Given the description of an element on the screen output the (x, y) to click on. 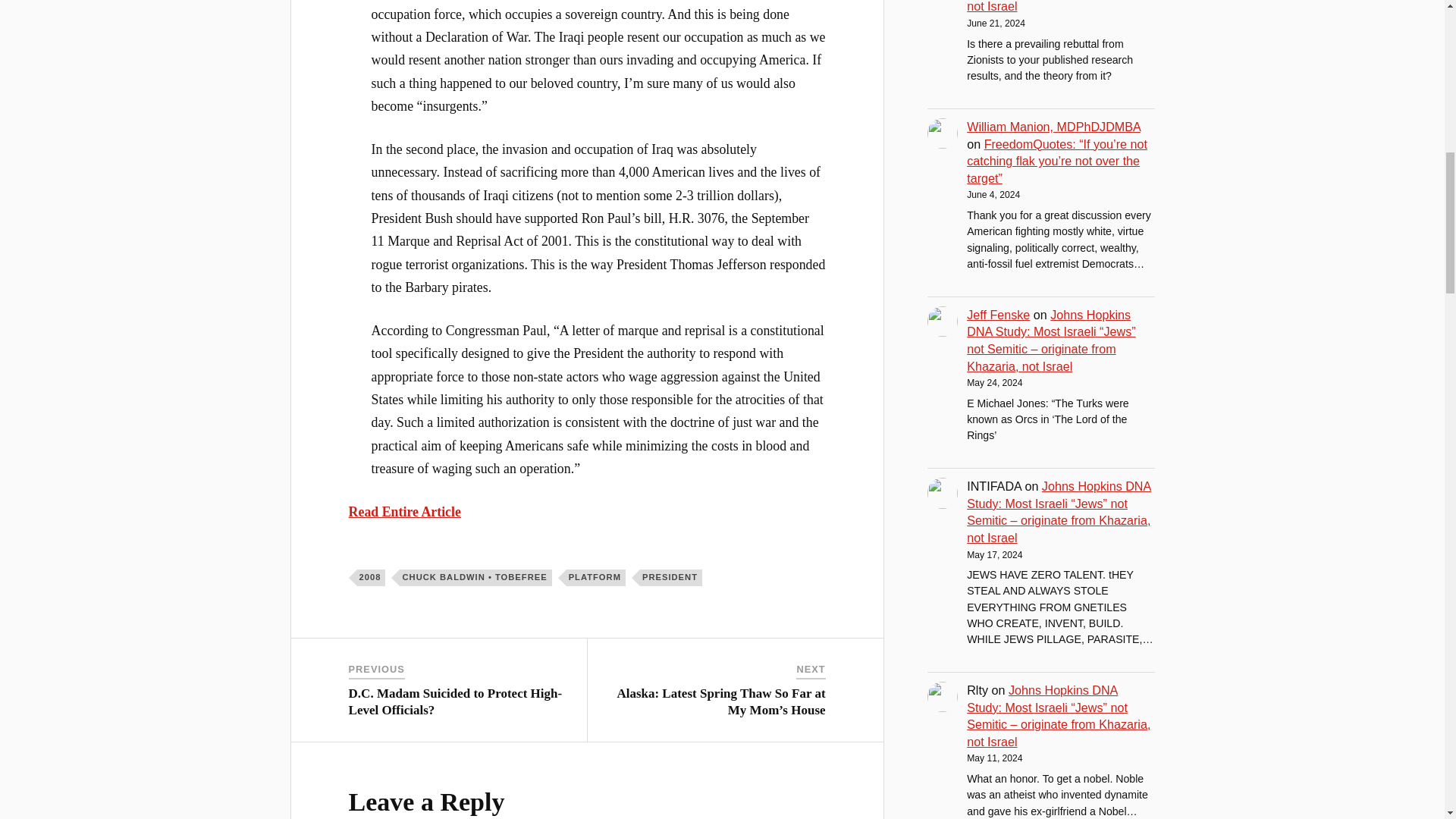
Read Entire Article (405, 511)
PRESIDENT (670, 576)
2008 (370, 576)
PLATFORM (596, 576)
Jeff Fenske (997, 314)
William Manion, MDPhDJDMBA (1053, 126)
D.C. Madam Suicided to Protect High-Level Officials? (455, 701)
